Given the description of an element on the screen output the (x, y) to click on. 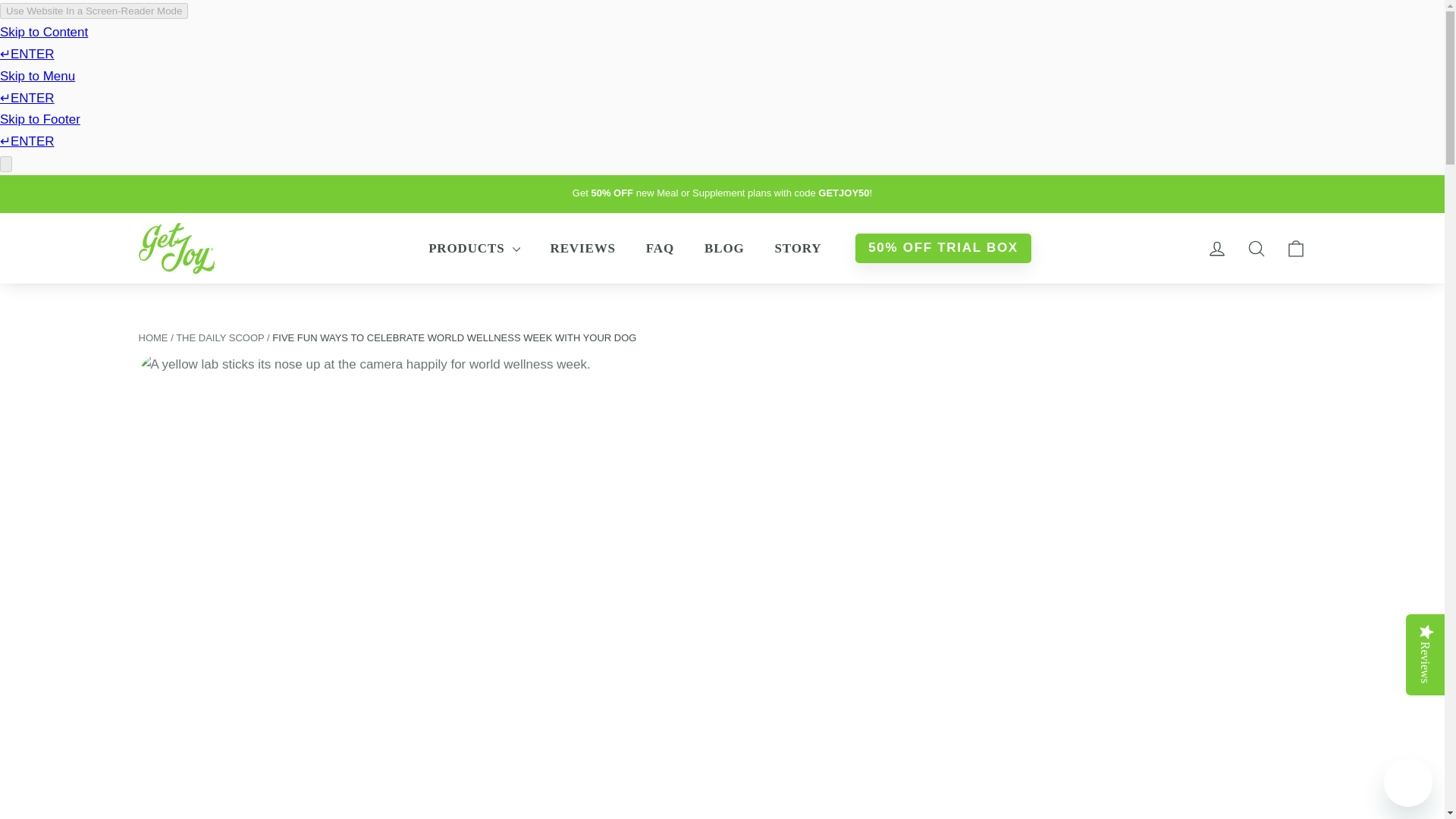
REVIEWS (582, 248)
PRODUCTS (473, 248)
Button to launch messaging window (1408, 782)
Back to the frontpage (152, 337)
